Given the description of an element on the screen output the (x, y) to click on. 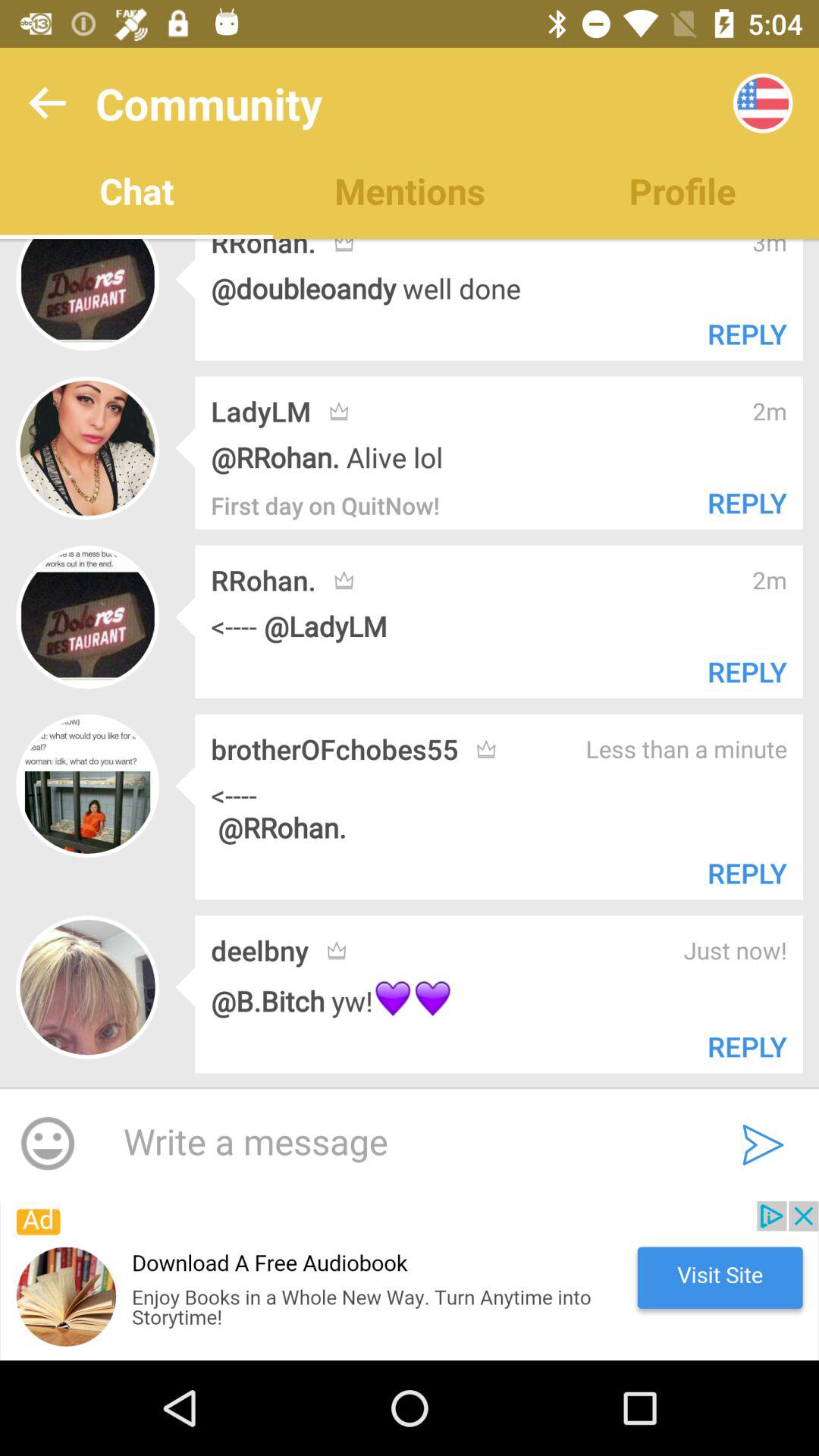
type in text (401, 1143)
